Given the description of an element on the screen output the (x, y) to click on. 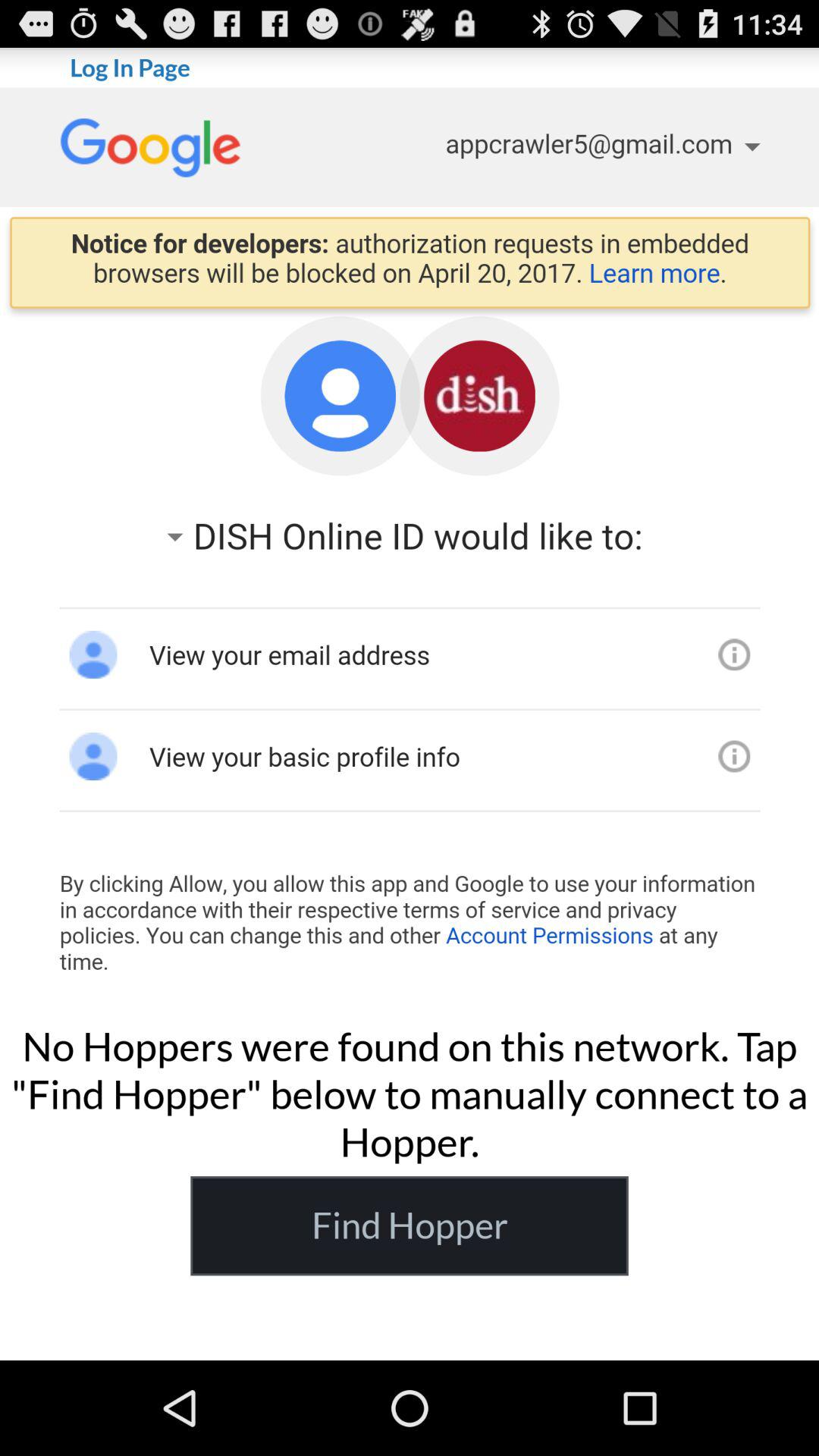
google login page (409, 547)
